Given the description of an element on the screen output the (x, y) to click on. 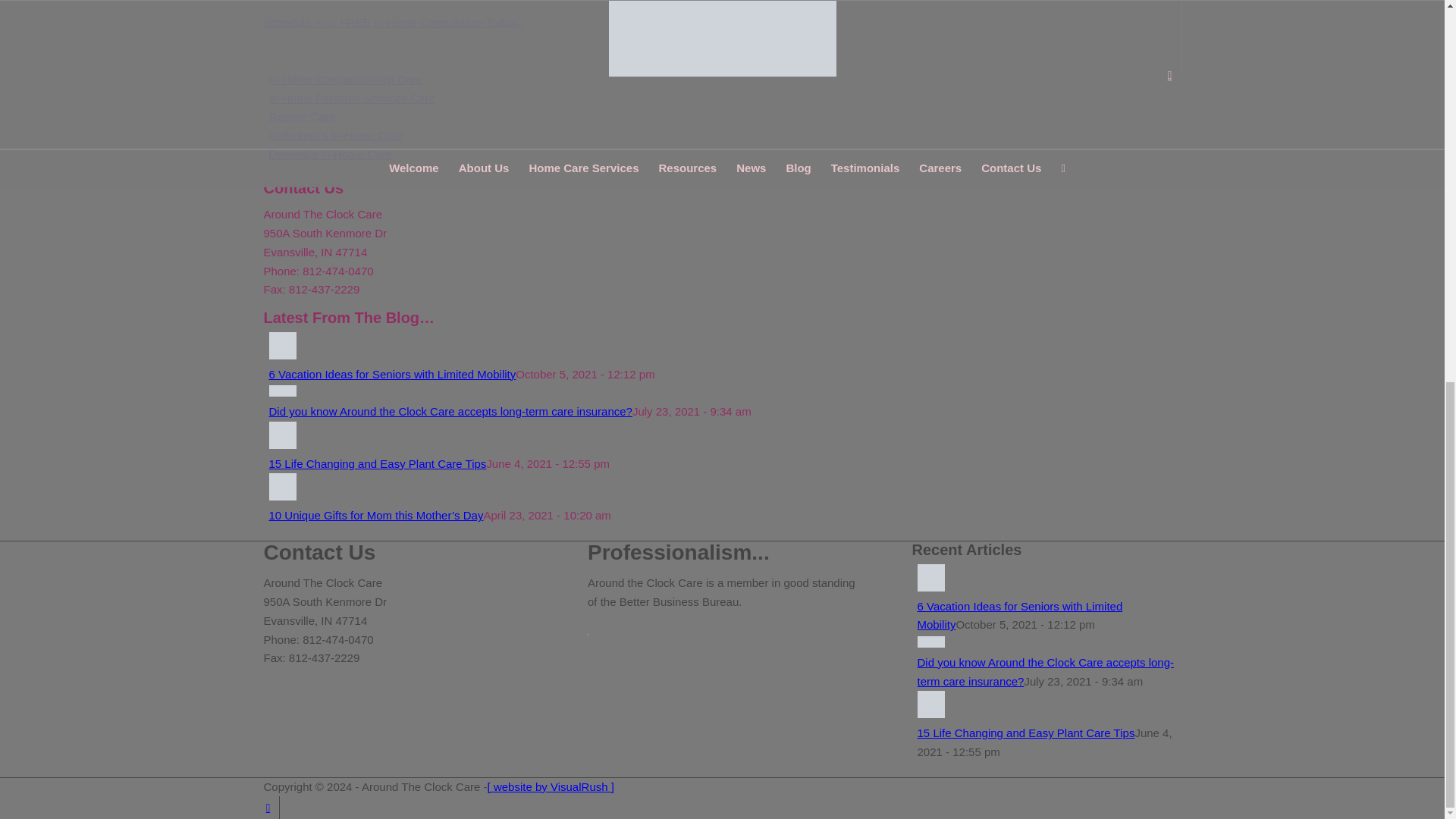
Read: 6 Vacation Ideas for Seniors with Limited Mobility (391, 373)
Respite Care (300, 115)
Dementia In-Home Care (329, 154)
Read: 15 Life Changing and Easy Plant Care Tips (376, 463)
Read: 15 Life Changing and Easy Plant Care Tips (281, 444)
In-Home Personal Services Care (350, 97)
6 Vacation Ideas for Seniors with Limited Mobility (391, 373)
Read: 6 Vacation Ideas for Seniors with Limited Mobility (281, 354)
6 Vacation Ideas for Seniors with Limited Mobility (1019, 615)
